Given the description of an element on the screen output the (x, y) to click on. 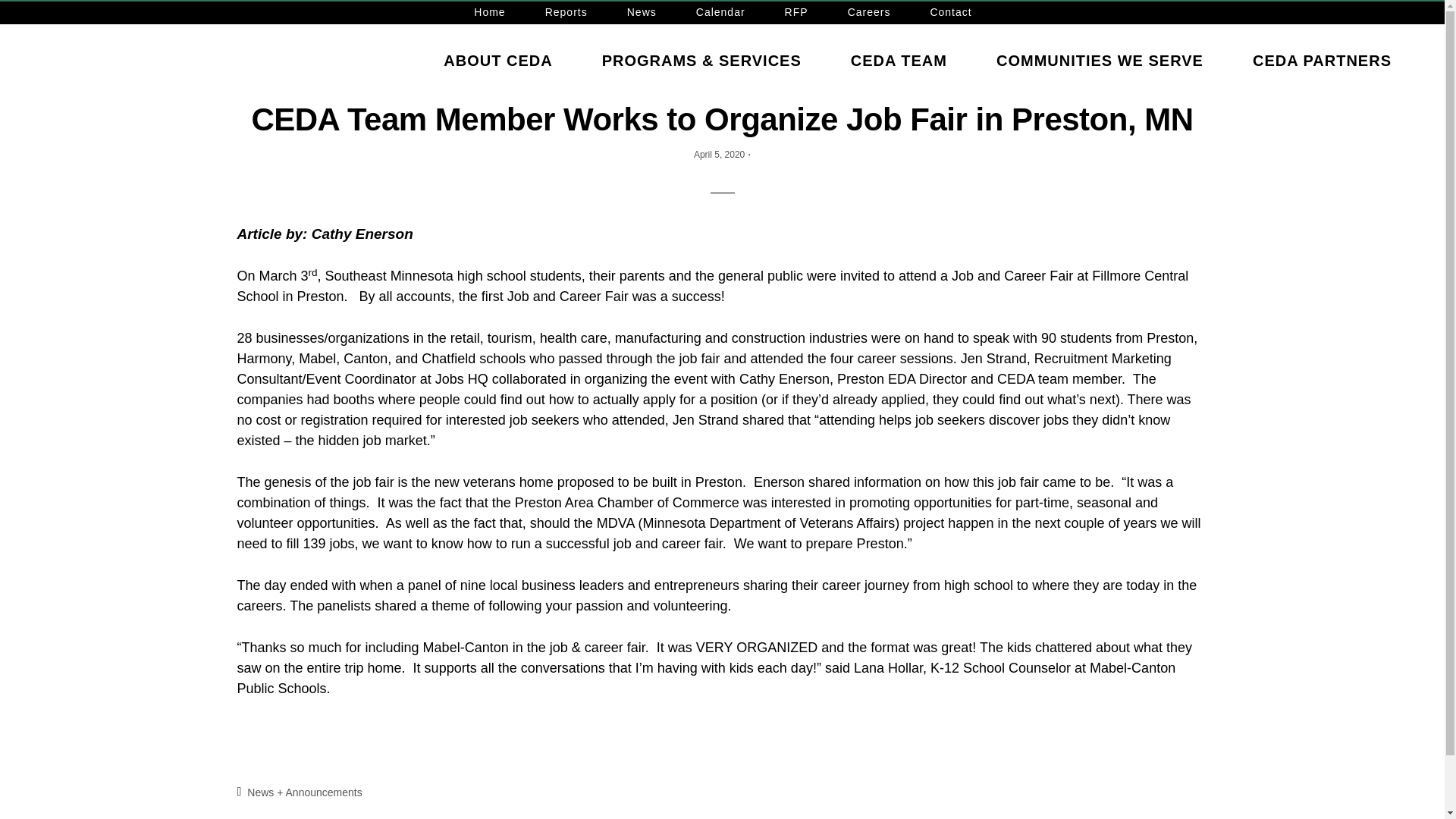
News (641, 12)
COMMUNITIES WE SERVE (1099, 60)
ABOUT CEDA (497, 60)
CEDA TEAM (898, 60)
Careers (868, 12)
Calendar (720, 12)
RFP (796, 12)
Home (489, 12)
